Given the description of an element on the screen output the (x, y) to click on. 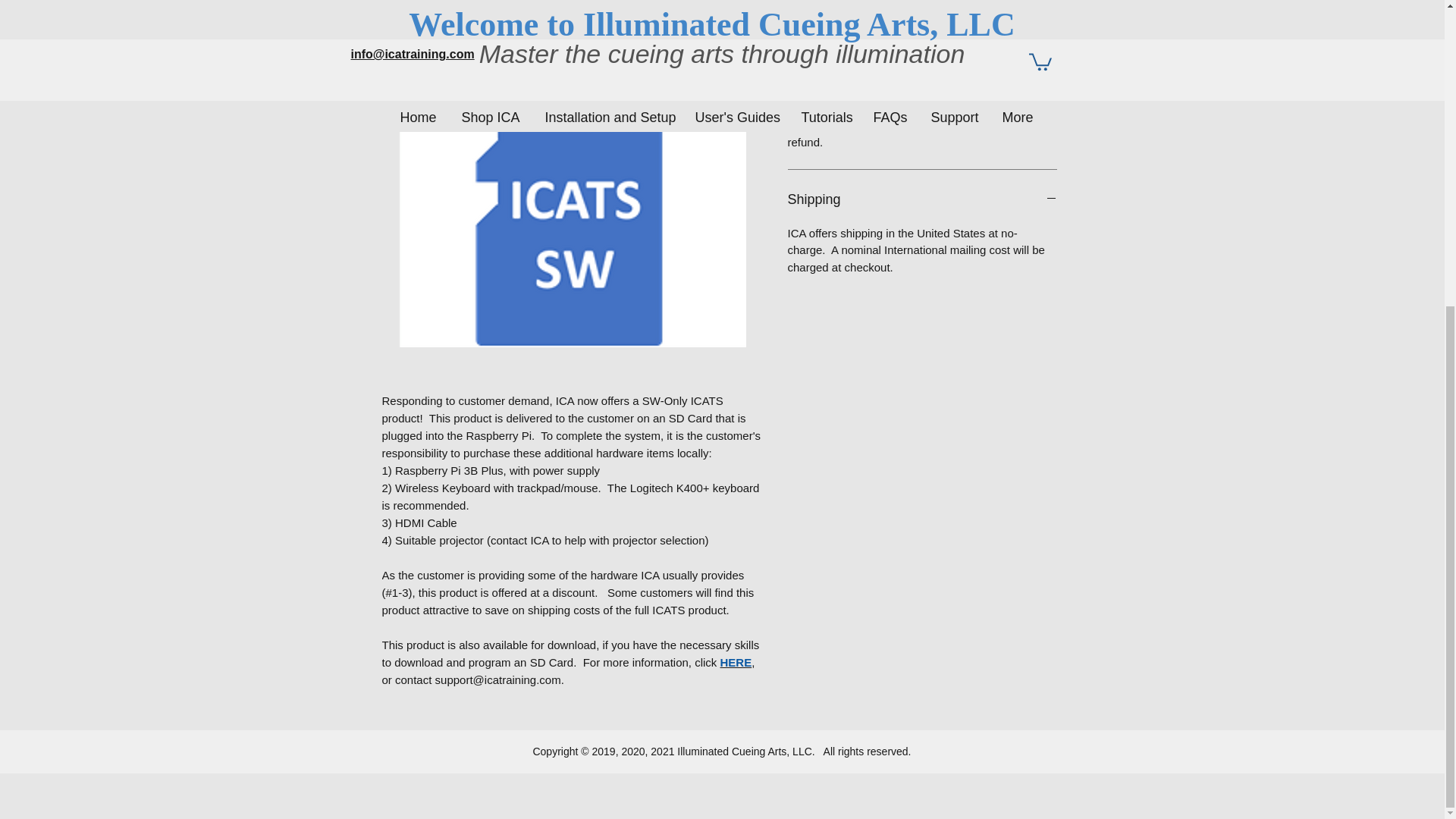
Shipping (922, 200)
HERE (736, 662)
Return Policy (922, 9)
